Given the description of an element on the screen output the (x, y) to click on. 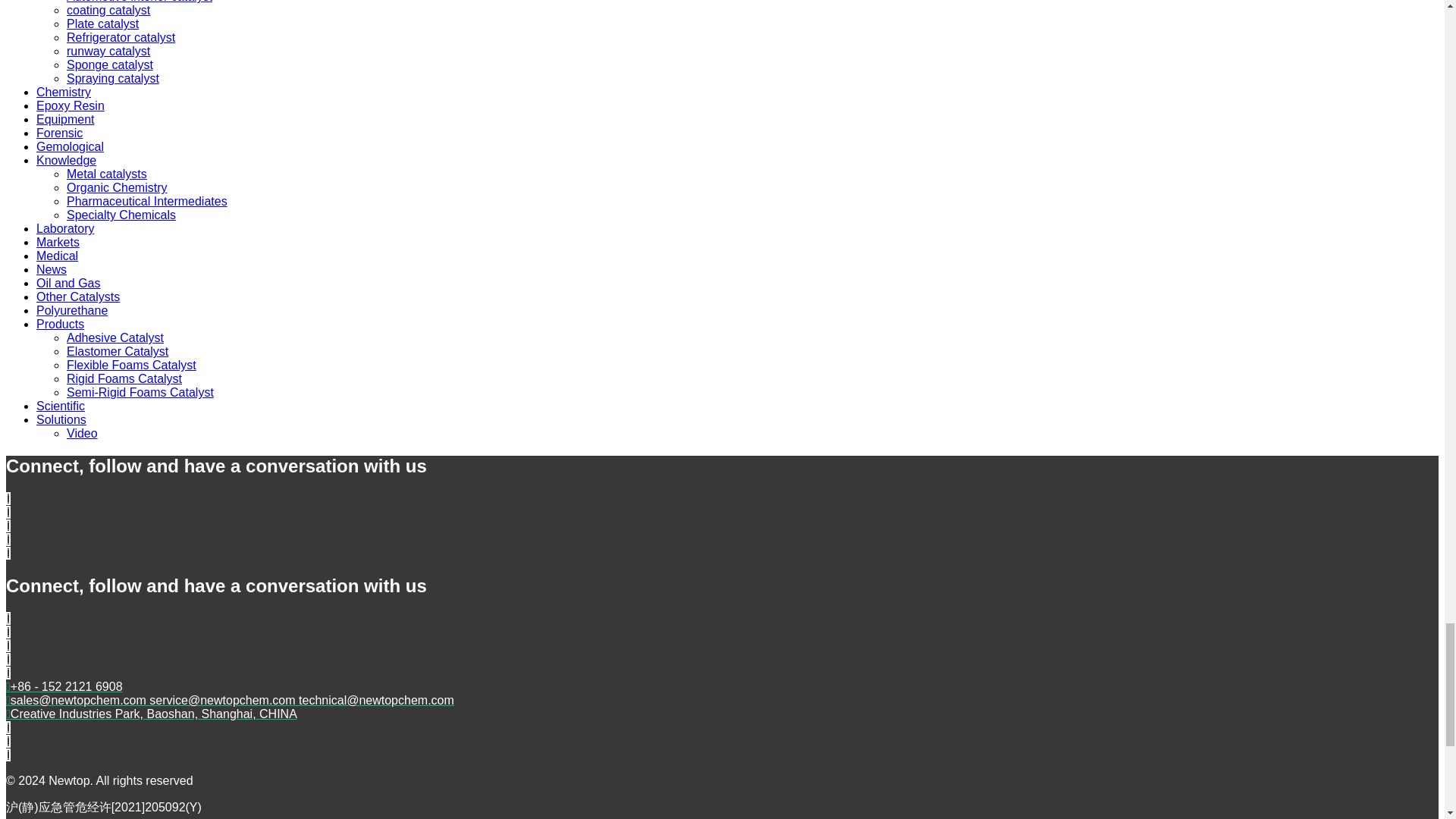
Creative Industries Park, Baoshan, Shanghai, CHINA (151, 713)
